Given the description of an element on the screen output the (x, y) to click on. 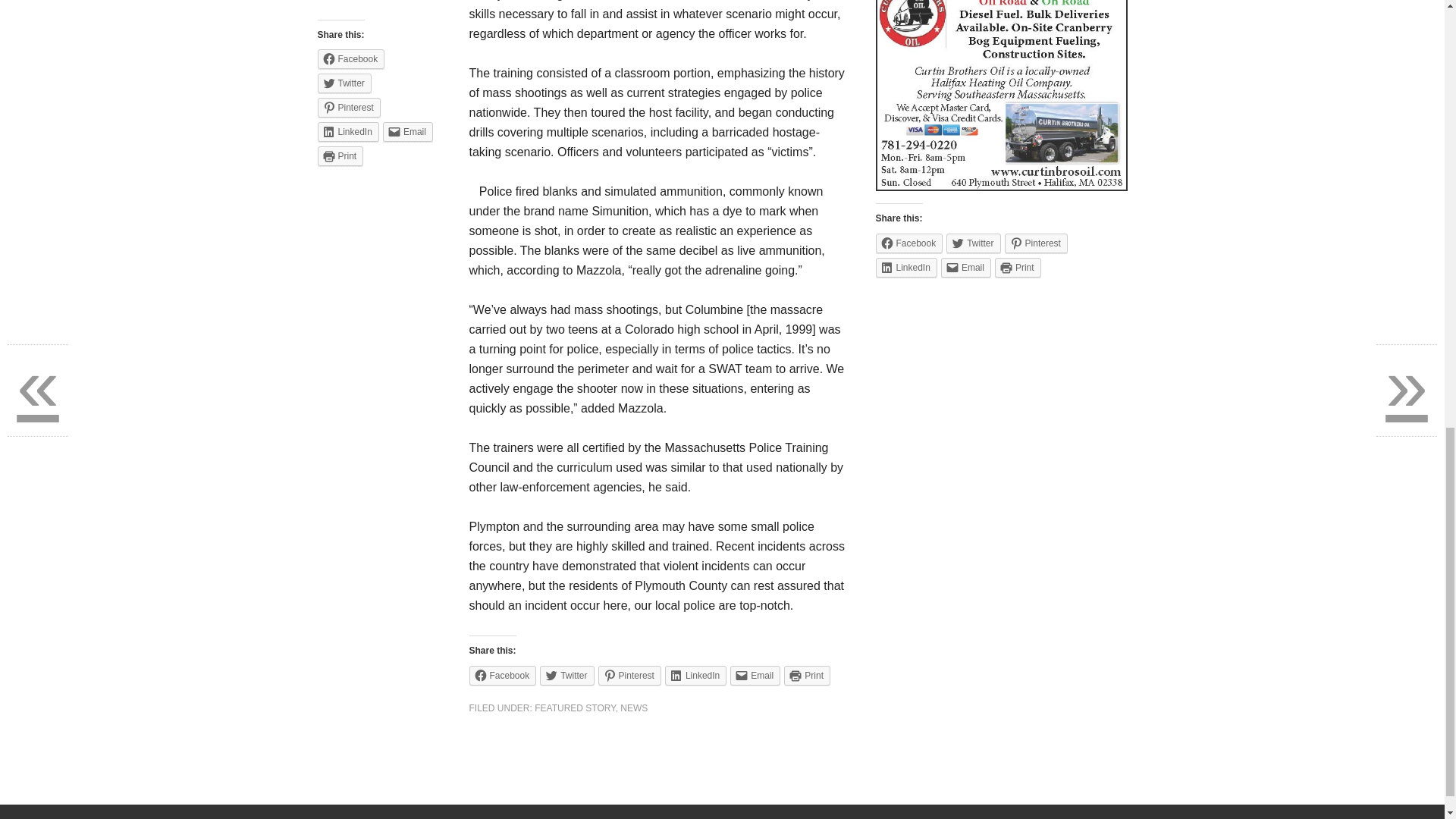
Click to share on Facebook (350, 58)
Click to share on Pinterest (1035, 243)
Click to print (1017, 267)
Click to email a link to a friend (755, 675)
Email (965, 267)
Pinterest (629, 675)
Facebook (908, 243)
Twitter (973, 243)
Click to email a link to a friend (407, 131)
LinkedIn (695, 675)
